Given the description of an element on the screen output the (x, y) to click on. 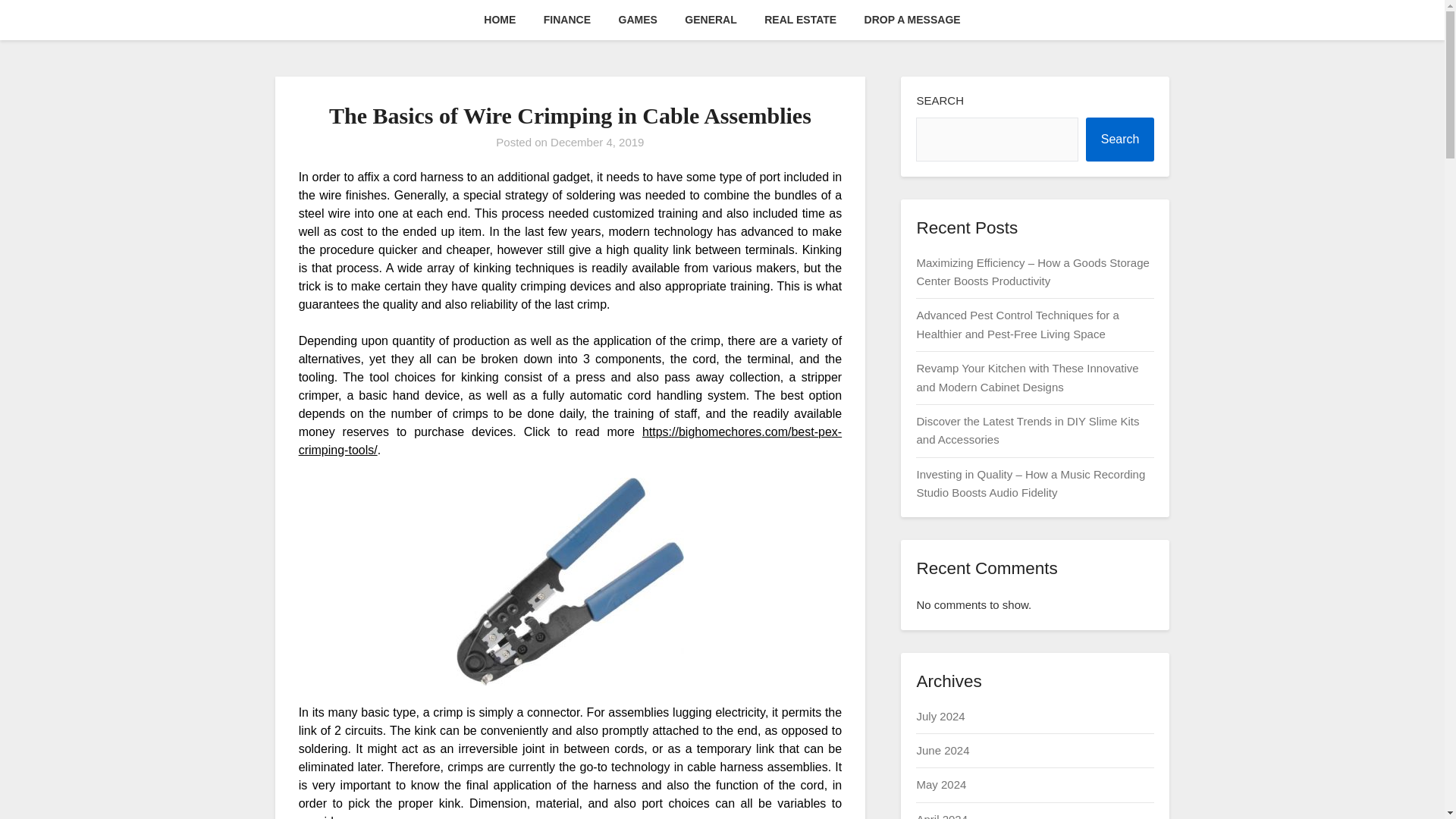
July 2024 (939, 716)
June 2024 (942, 749)
HOME (499, 20)
Search (1120, 139)
GENERAL (710, 20)
December 4, 2019 (596, 141)
Discover the Latest Trends in DIY Slime Kits and Accessories (1026, 429)
April 2024 (941, 816)
REAL ESTATE (800, 20)
DROP A MESSAGE (911, 20)
May 2024 (940, 784)
FINANCE (566, 20)
GAMES (638, 20)
